Given the description of an element on the screen output the (x, y) to click on. 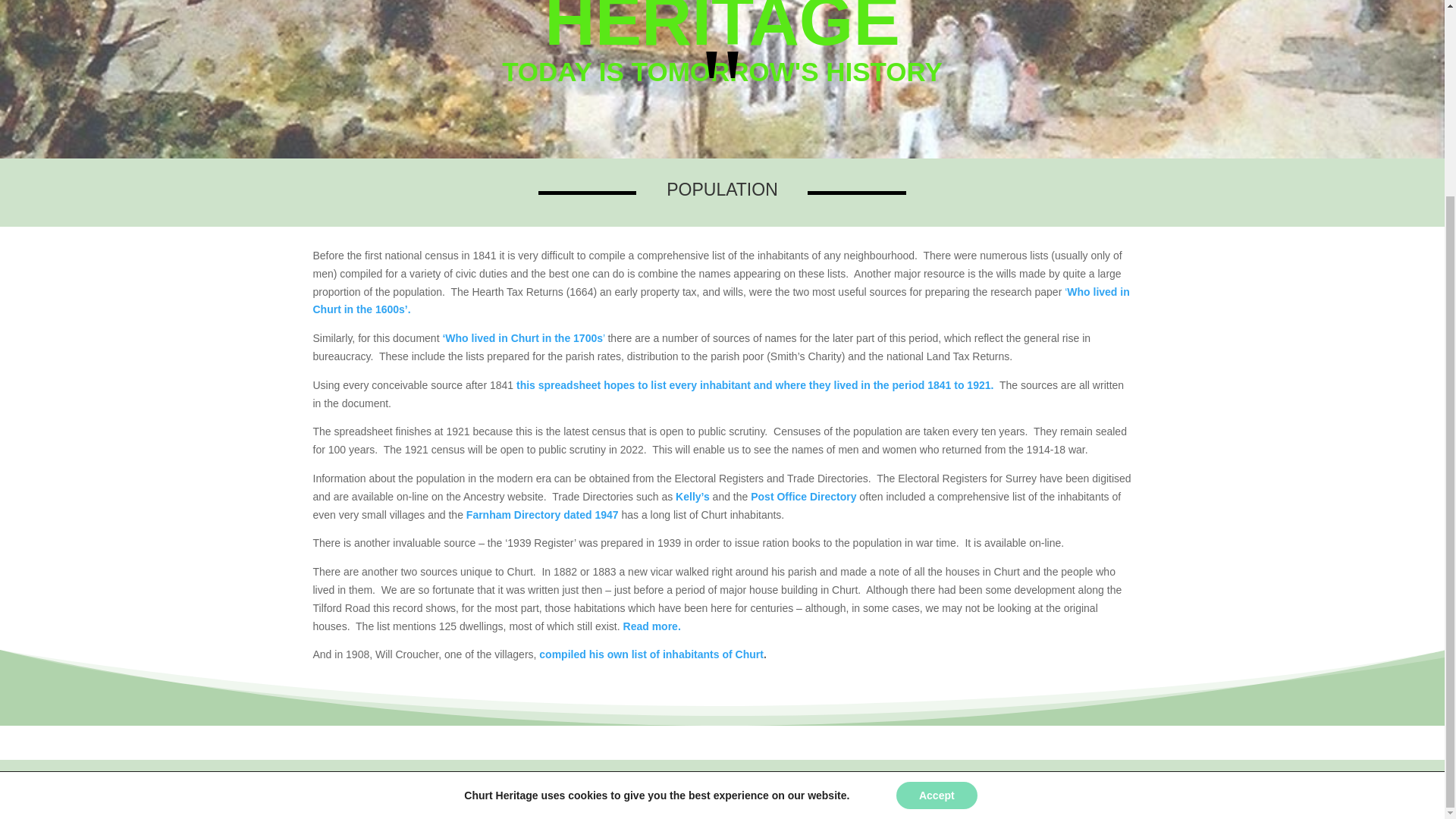
Emma's Web (939, 788)
